Given the description of an element on the screen output the (x, y) to click on. 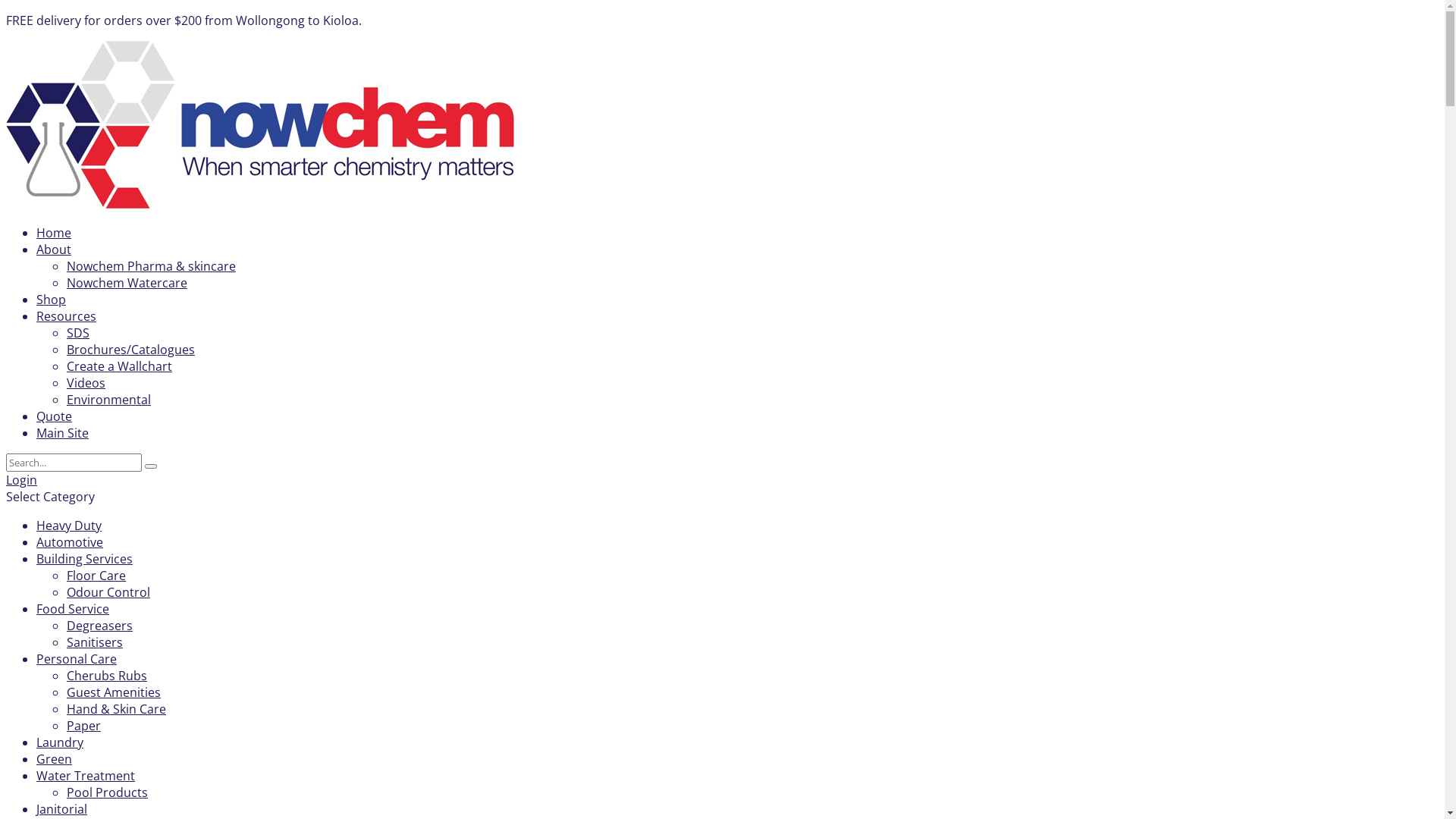
Food Service Element type: text (72, 608)
Building Services Element type: text (84, 558)
Nowchem Pharma & skincare Element type: text (150, 265)
Shop Element type: text (50, 299)
Login Element type: text (21, 479)
Degreasers Element type: text (99, 625)
Home Element type: text (53, 232)
Create a Wallchart Element type: text (119, 365)
Quote Element type: text (54, 415)
Environmental Element type: text (108, 399)
Guest Amenities Element type: text (113, 692)
Hand & Skin Care Element type: text (116, 708)
Brochures/Catalogues Element type: text (130, 349)
Laundry Element type: text (59, 742)
Personal Care Element type: text (76, 658)
Videos Element type: text (85, 382)
Floor Care Element type: text (95, 575)
Heavy Duty Element type: text (68, 525)
About Element type: text (53, 249)
Resources Element type: text (66, 315)
Nowchem Watercare Element type: text (126, 282)
Paper Element type: text (83, 725)
Automotive Element type: text (69, 541)
Main Site Element type: text (62, 432)
Cherubs Rubs Element type: text (106, 675)
Sanitisers Element type: text (94, 641)
Odour Control Element type: text (108, 591)
Green Element type: text (54, 758)
Pool Products Element type: text (106, 792)
Janitorial Element type: text (61, 808)
Water Treatment Element type: text (85, 775)
SDS Element type: text (77, 332)
